Given the description of an element on the screen output the (x, y) to click on. 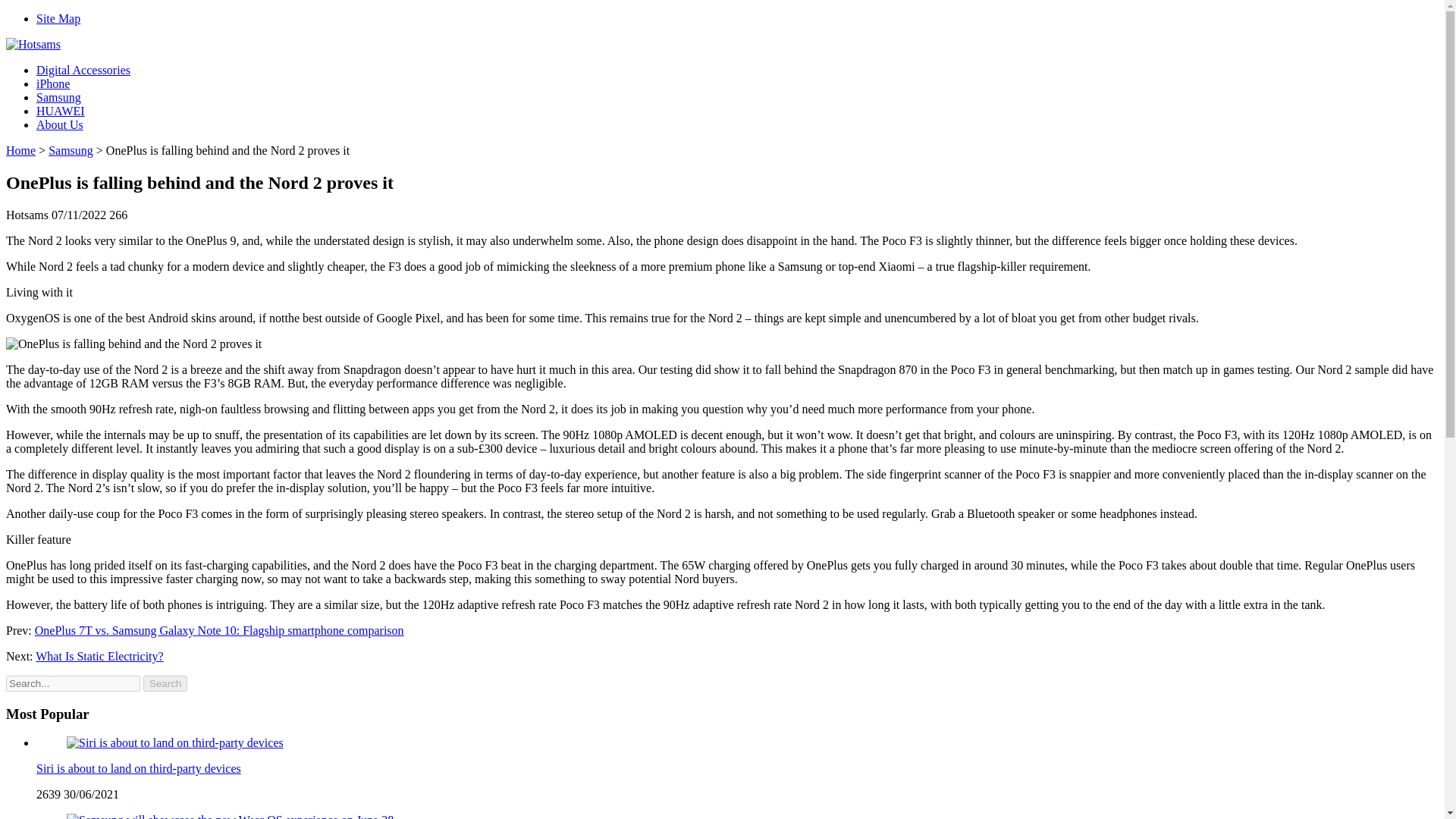
Hotsams (33, 43)
Search (164, 683)
About Us (59, 124)
Siri is about to land on third-party devices (174, 742)
HUAWEI (60, 110)
Site Map (58, 18)
Digital Accessories (83, 69)
Siri is about to land on third-party devices (174, 743)
Samsung will showcase the new Wear OS experience on June 28 (229, 816)
What Is Static Electricity? (98, 656)
What Is Static Electricity? (98, 656)
About Us (59, 124)
iPhone (52, 83)
Samsung (70, 150)
Hotsams (33, 44)
